Given the description of an element on the screen output the (x, y) to click on. 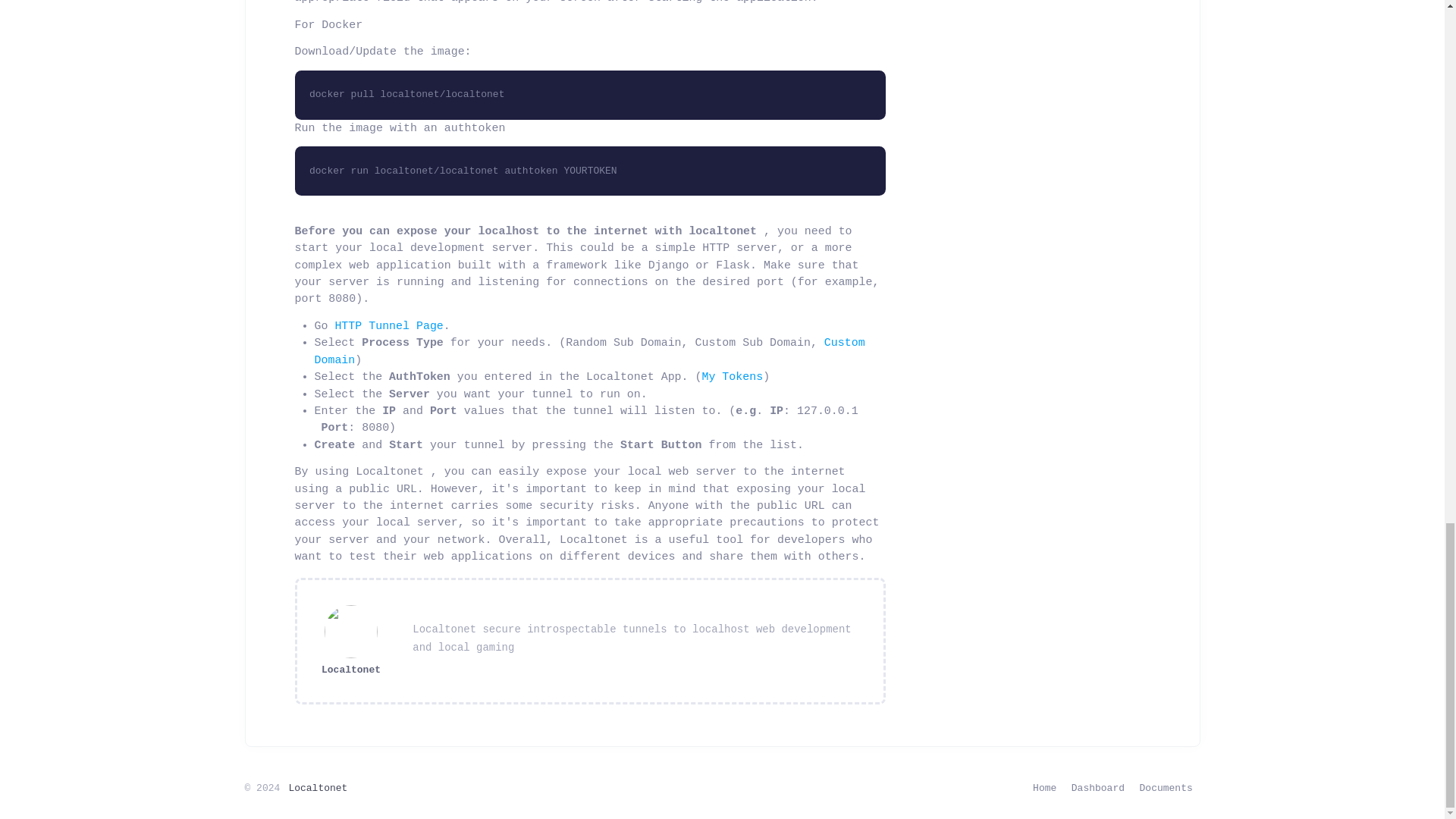
Localtonet (350, 669)
Localtonet (317, 787)
Documents (1165, 788)
My Tokens (731, 377)
Dashboard (1098, 788)
Home (1044, 788)
Custom Domain (589, 350)
HTTP Tunnel Page (388, 326)
